Given the description of an element on the screen output the (x, y) to click on. 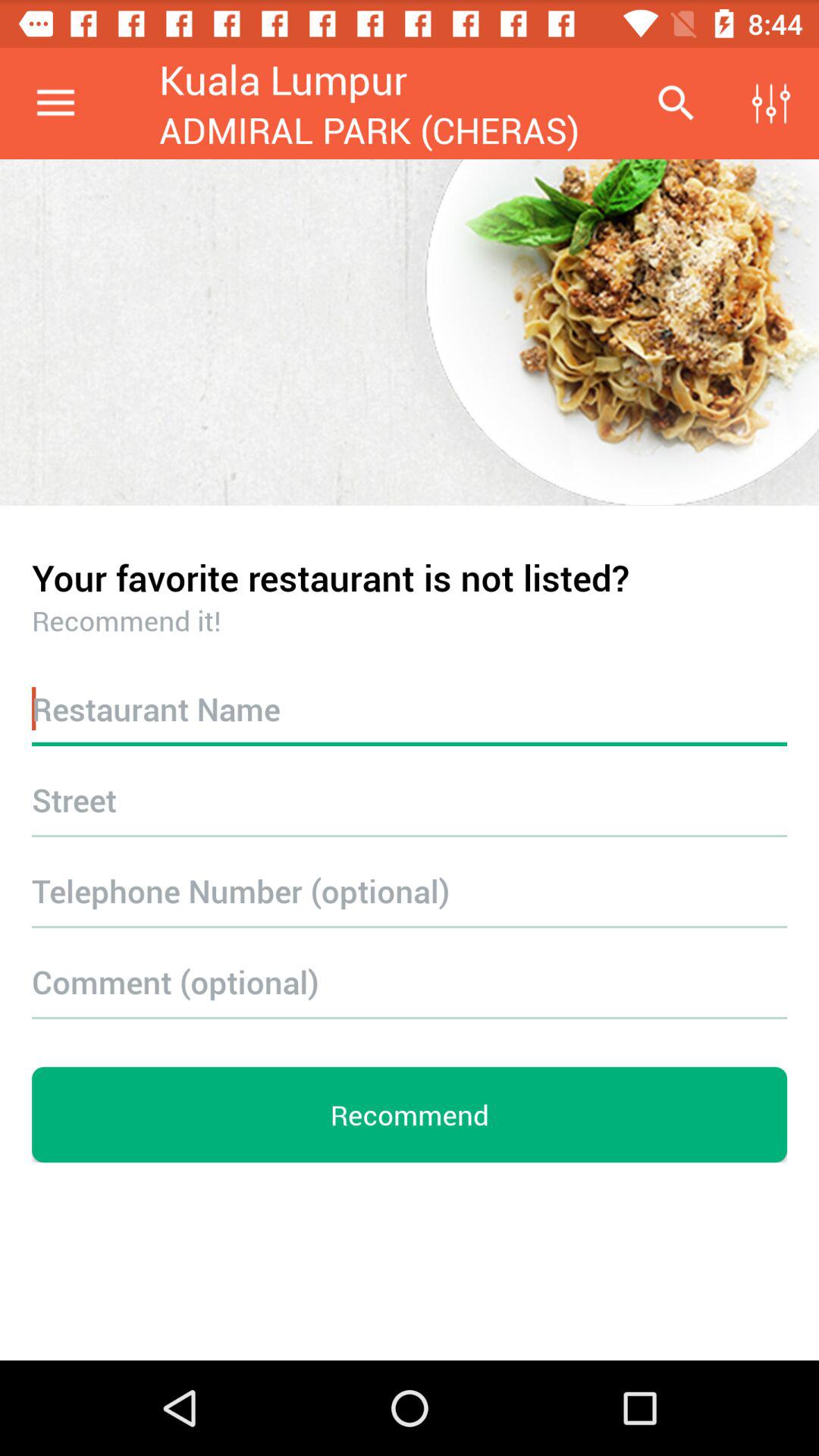
enter restaurant name (409, 708)
